Given the description of an element on the screen output the (x, y) to click on. 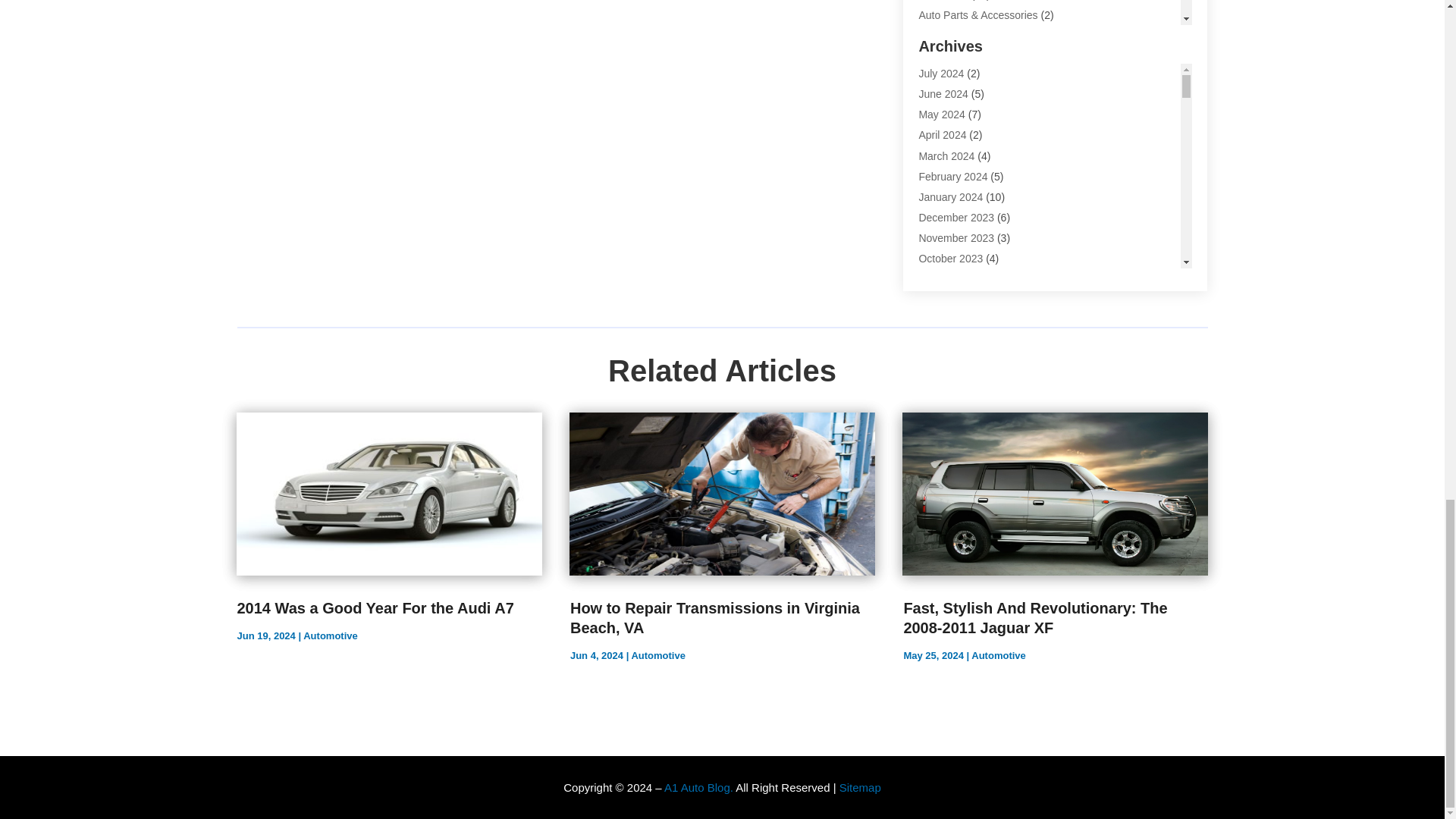
Auto Parts (943, 0)
Auto Repair (946, 77)
Auto Parts Dealer (960, 36)
Auto Parts Store (956, 56)
